Given the description of an element on the screen output the (x, y) to click on. 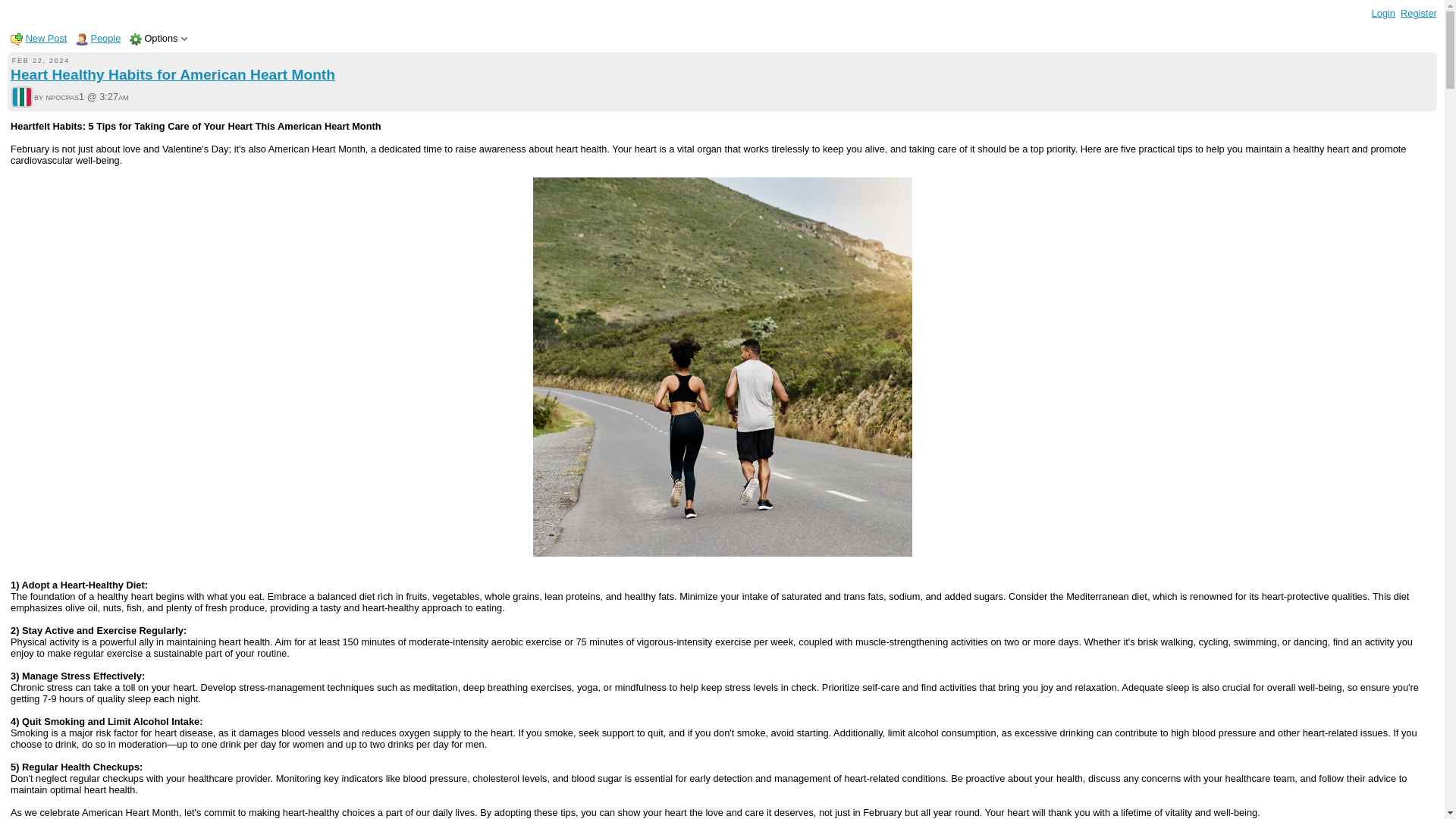
People (105, 38)
Click for more options (160, 38)
Login (1382, 12)
npocpas1 (21, 96)
Heart Healthy Habits for American Heart Month (172, 74)
Options (160, 38)
New Post (46, 38)
Post new message in Harrington Group Blog (46, 38)
View profile of npocpas1 (21, 98)
